Given the description of an element on the screen output the (x, y) to click on. 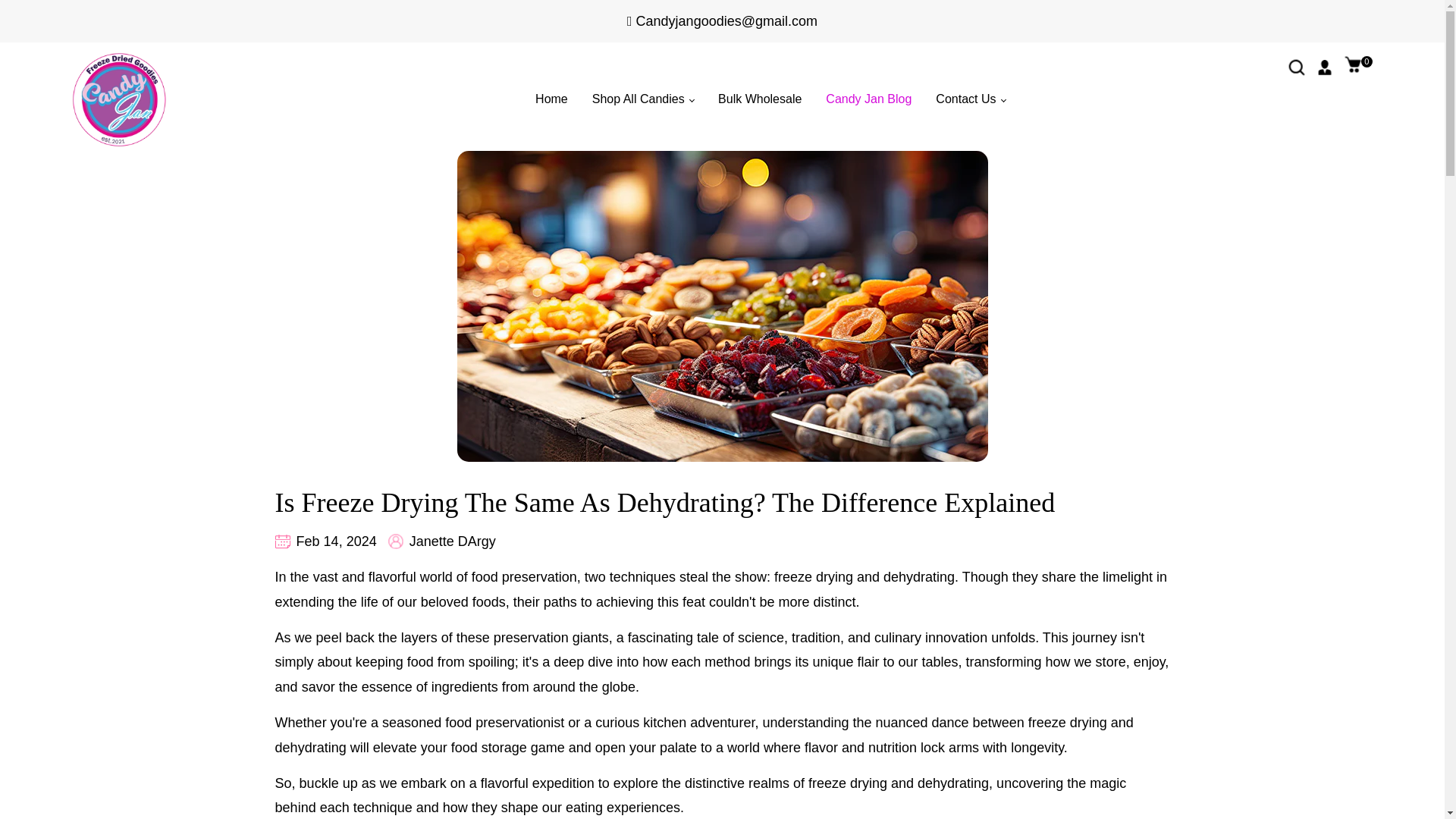
Shop All Candies (1358, 68)
Contact Us (642, 99)
Candy Jan Blog (970, 99)
Bulk Wholesale (868, 99)
Home (759, 99)
